Given the description of an element on the screen output the (x, y) to click on. 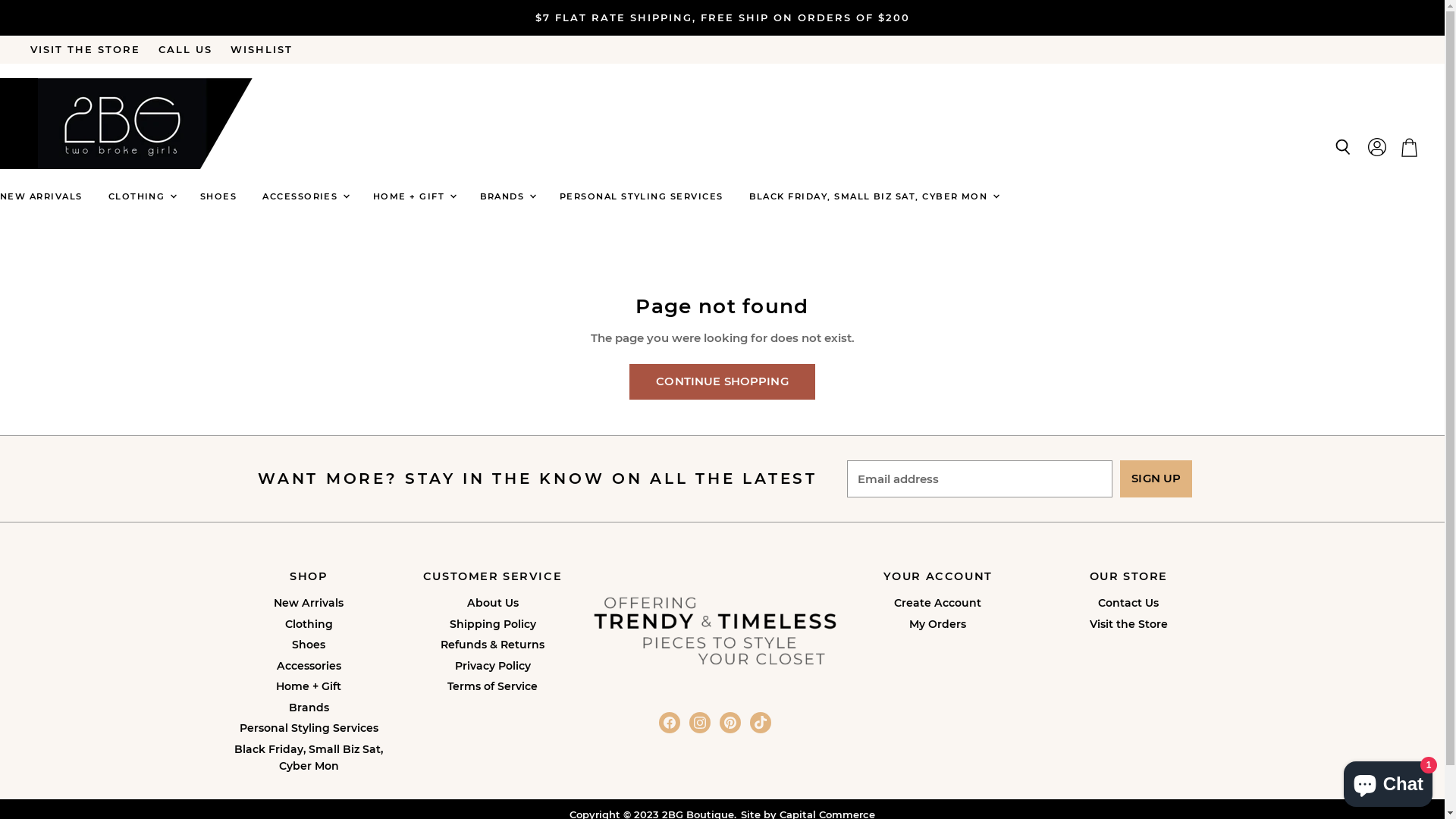
SIGN UP Element type: text (1156, 478)
Accessories Element type: text (308, 665)
CALL US Element type: text (185, 49)
Clothing Element type: text (308, 623)
My Orders Element type: text (937, 623)
WISHLIST Element type: text (261, 49)
CLOTHING Element type: text (141, 196)
BRANDS Element type: text (506, 196)
Find us on Instagram Element type: text (699, 722)
VISIT THE STORE Element type: text (85, 49)
View cart Element type: text (1408, 147)
Black Friday, Small Biz Sat, Cyber Mon Element type: text (308, 757)
PERSONAL STYLING SERVICES Element type: text (641, 196)
SHOES Element type: text (217, 196)
HOME + GIFT Element type: text (413, 196)
Find us on Facebook Element type: text (669, 722)
Find us on Pinterest Element type: text (729, 722)
View account Element type: text (1376, 147)
Personal Styling Services Element type: text (308, 727)
Shipping Policy Element type: text (491, 623)
About Us Element type: text (492, 602)
Privacy Policy Element type: text (492, 665)
Create Account Element type: text (937, 602)
Terms of Service Element type: text (492, 686)
CONTINUE SHOPPING Element type: text (722, 381)
Find us on TikTok Element type: text (760, 722)
Brands Element type: text (308, 707)
Search Element type: text (1342, 147)
BLACK FRIDAY, SMALL BIZ SAT, CYBER MON Element type: text (872, 196)
Shopify online store chat Element type: hover (1388, 780)
Refunds & Returns Element type: text (492, 644)
Contact Us Element type: text (1128, 602)
Home + Gift Element type: text (308, 686)
Visit the Store Element type: text (1128, 623)
ACCESSORIES Element type: text (304, 196)
New Arrivals Element type: text (308, 602)
Shoes Element type: text (308, 644)
